Given the description of an element on the screen output the (x, y) to click on. 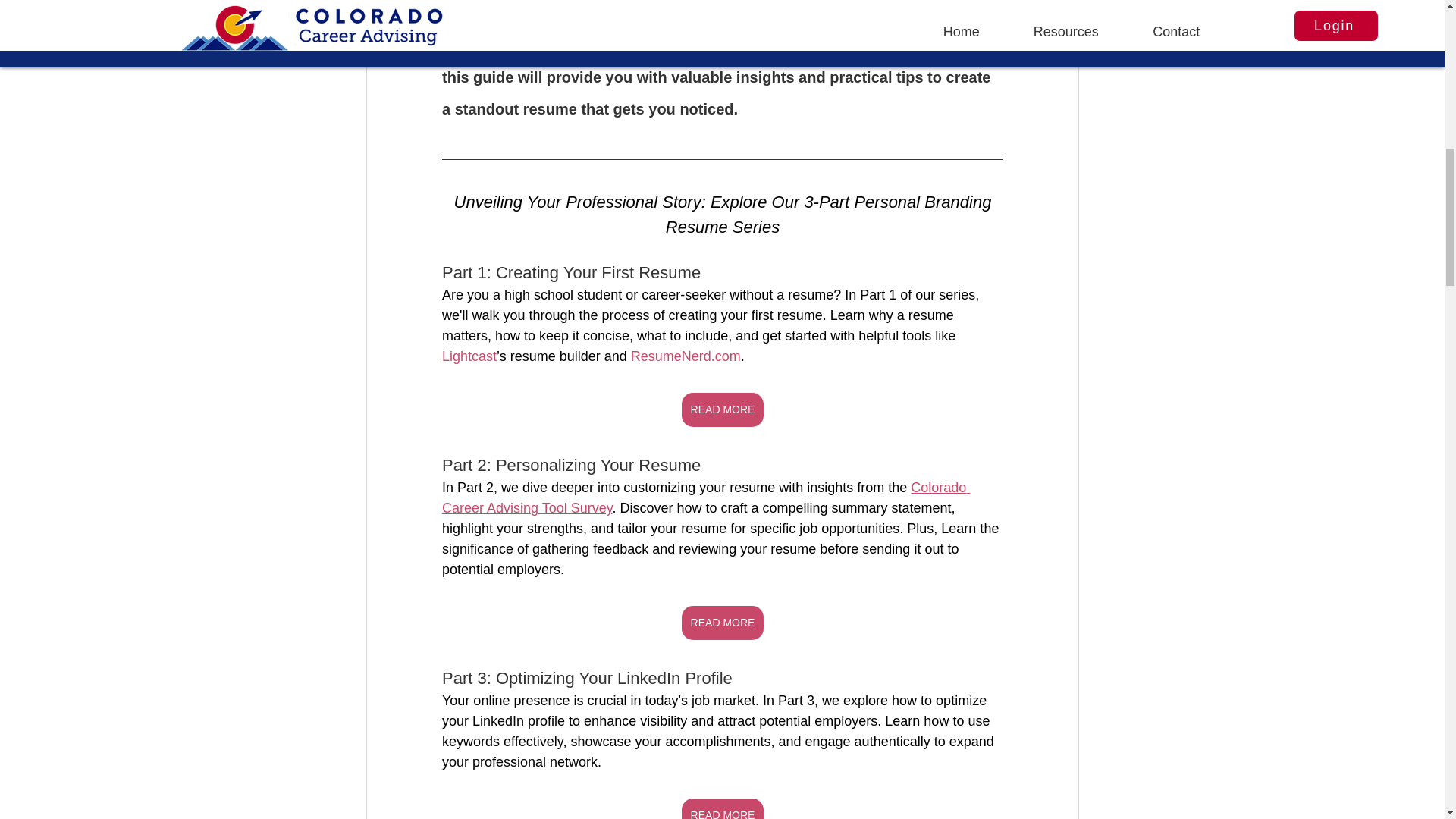
READ MORE (721, 622)
ResumeNerd.com (684, 355)
Lightcast (468, 355)
READ MORE (721, 409)
READ MORE (721, 808)
Colorado Career Advising Tool Survey (705, 497)
